Given the description of an element on the screen output the (x, y) to click on. 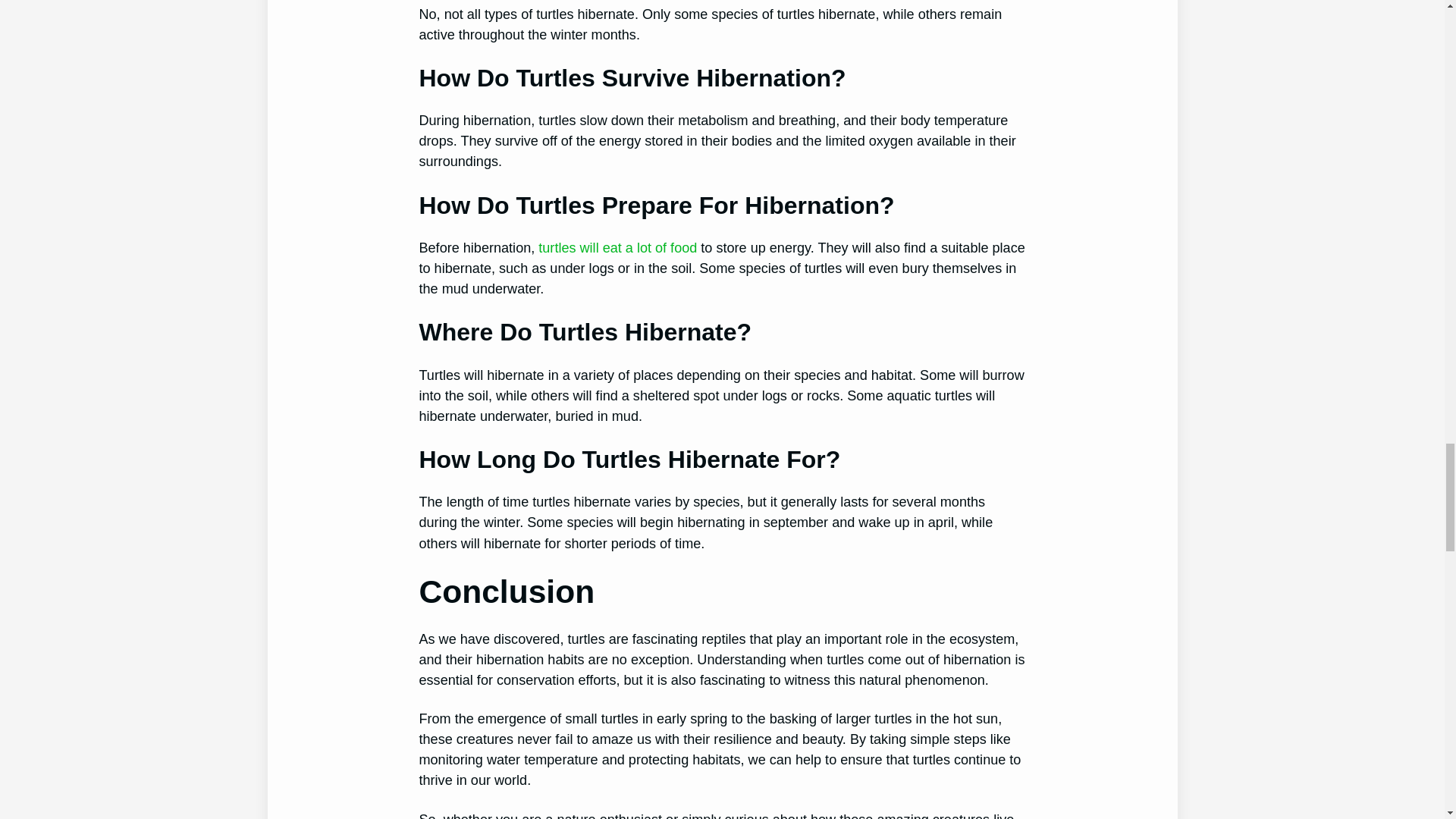
turtles will eat a lot of food (619, 247)
